Given the description of an element on the screen output the (x, y) to click on. 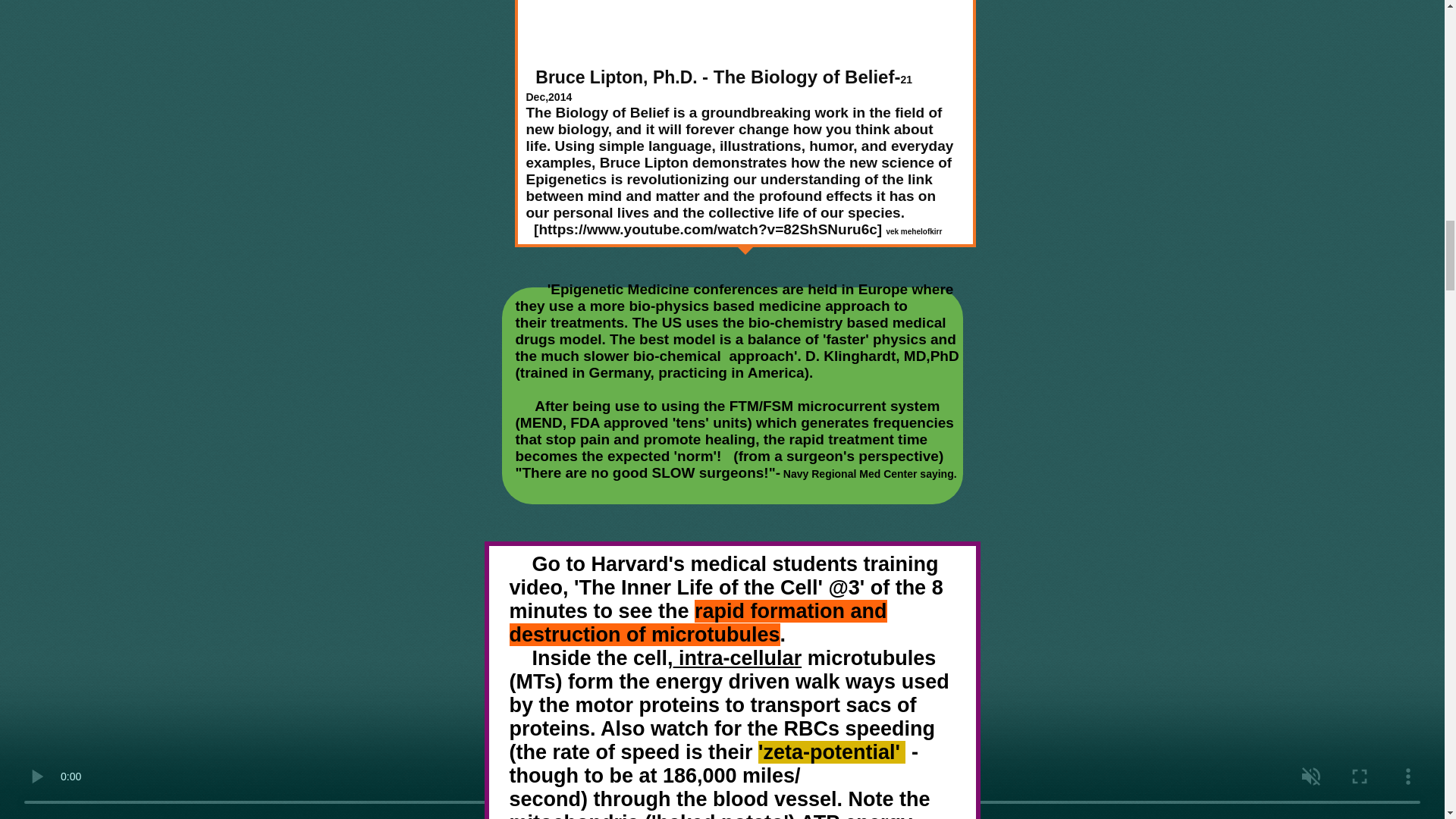
External YouTube (744, 22)
